Given the description of an element on the screen output the (x, y) to click on. 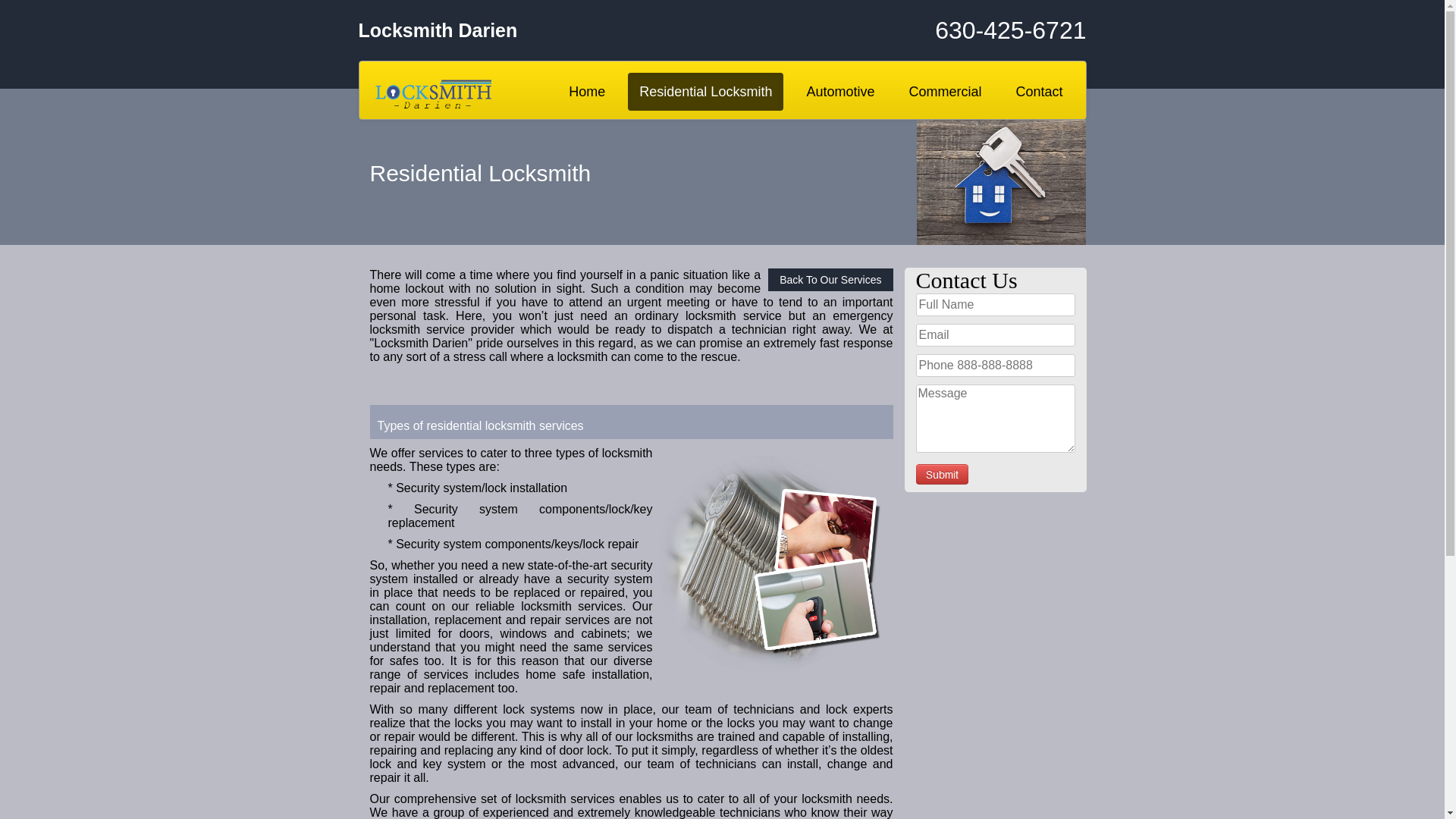
Residential Locksmith in Illinois Element type: hover (771, 567)
630-425-6721 Element type: text (964, 30)
Back To Our Services Element type: text (830, 279)
Residential Locksmith Element type: text (705, 91)
Automotive Element type: text (839, 91)
Commercial Element type: text (944, 91)
Contact Element type: text (1038, 91)
Home Element type: text (586, 91)
  Element type: text (942, 474)
